Given the description of an element on the screen output the (x, y) to click on. 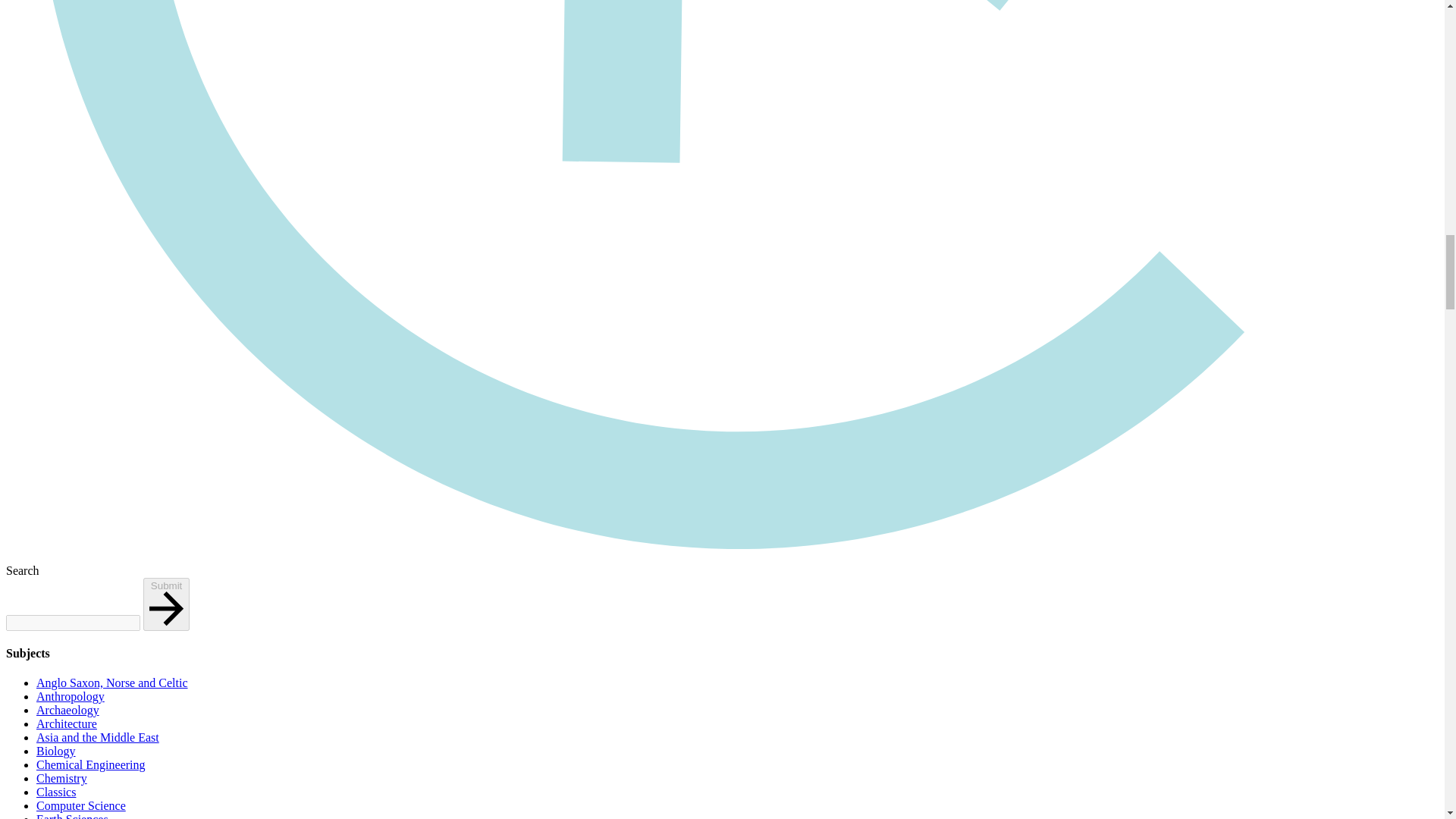
Asia and the Middle East (97, 737)
Chemical Engineering (90, 764)
Archaeology (67, 709)
Anthropology (70, 696)
Classics (55, 791)
Architecture (66, 723)
Chemistry (61, 778)
Biology (55, 750)
Computer Science (80, 805)
Earth Sciences (71, 816)
Anglo Saxon, Norse and Celtic (111, 682)
